Given the description of an element on the screen output the (x, y) to click on. 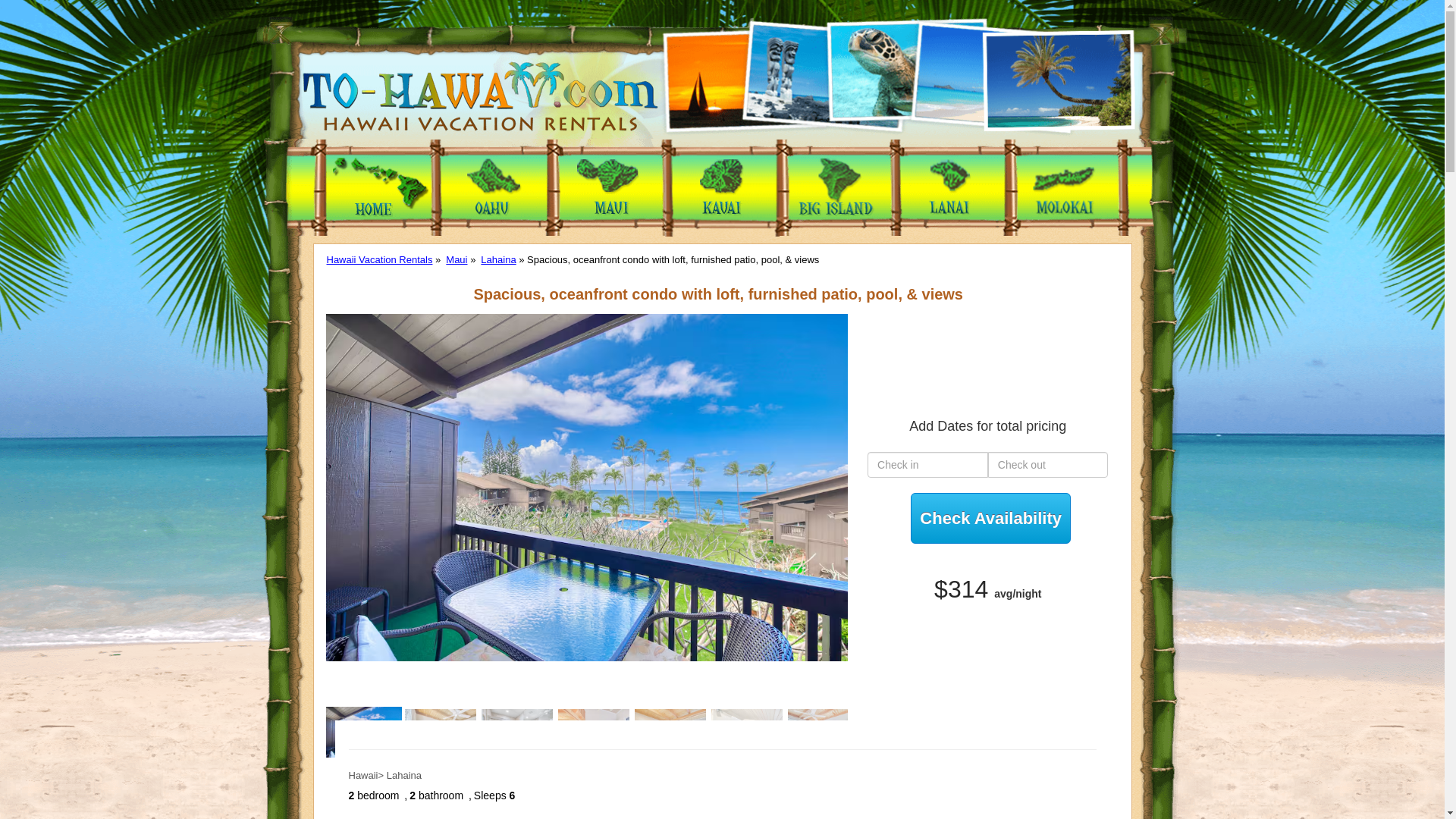
Maui (456, 259)
Hawaii Vacation Rentals (379, 259)
Lahaina (497, 259)
Check Availability (990, 518)
